Given the description of an element on the screen output the (x, y) to click on. 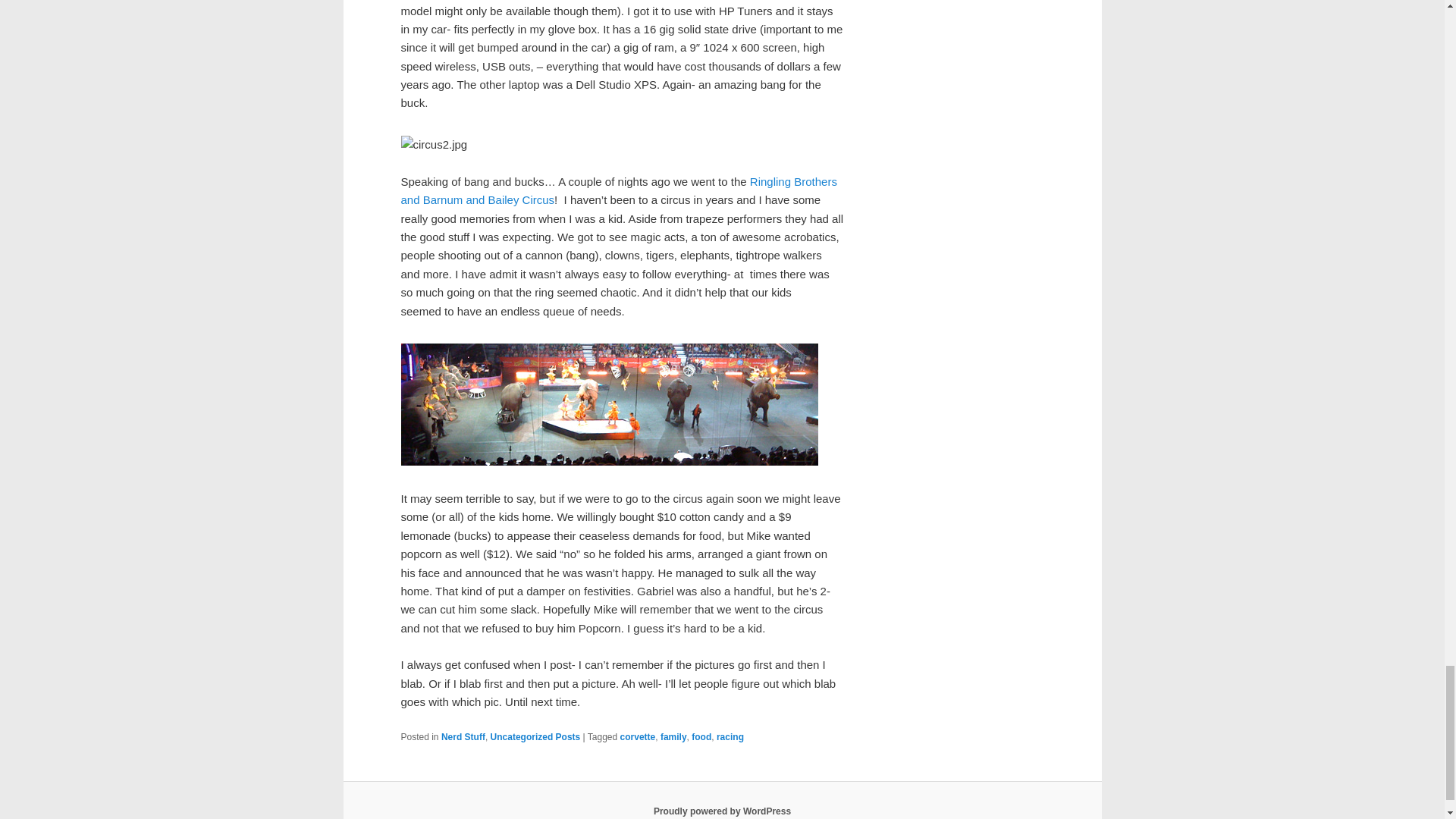
corvette (638, 737)
Uncategorized Posts (535, 737)
family (674, 737)
Nerd Stuff (462, 737)
Ringling Brothers and Barnum and Bailey Circus (617, 190)
food (701, 737)
racing (730, 737)
